Given the description of an element on the screen output the (x, y) to click on. 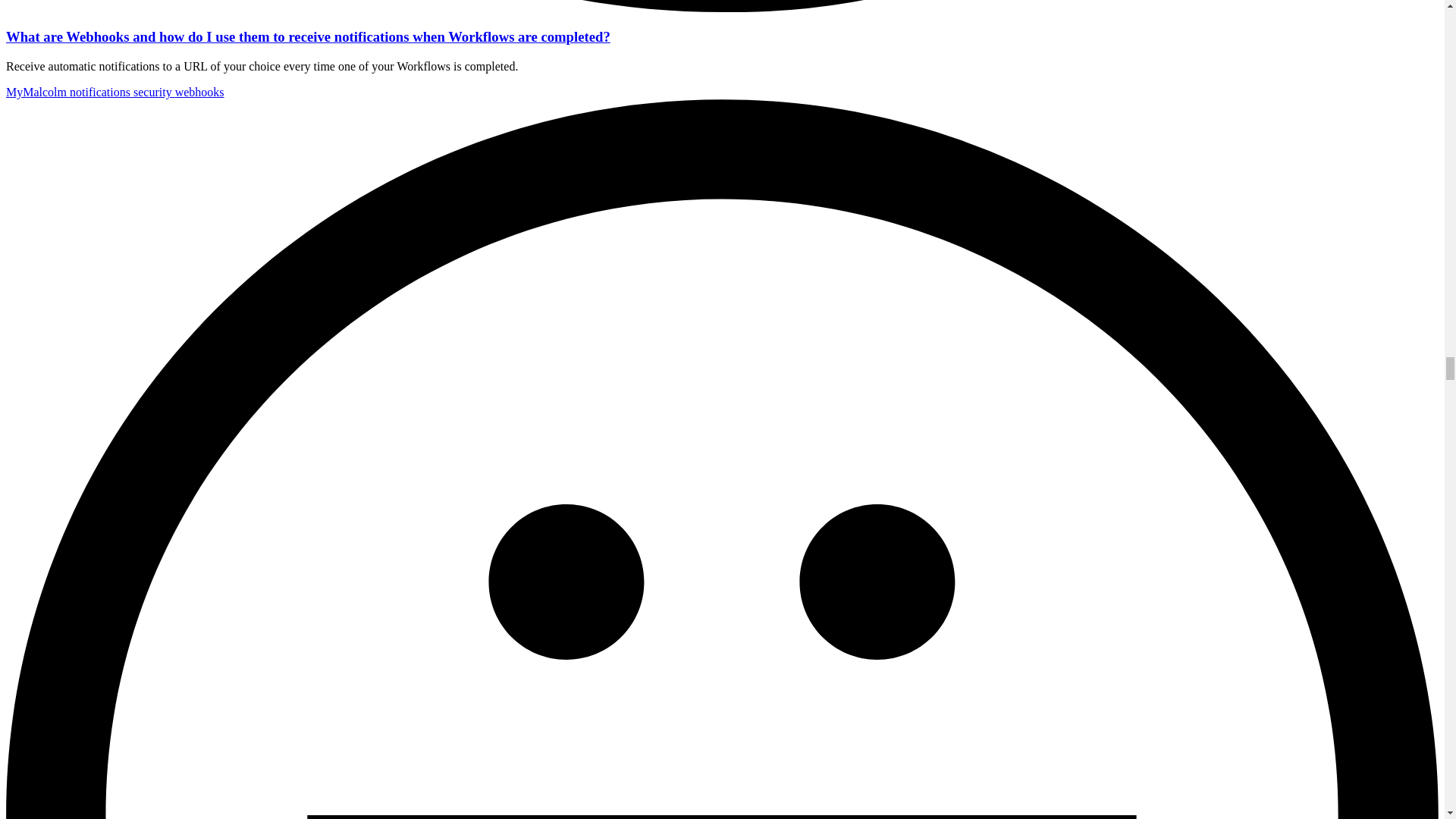
notifications (101, 91)
MyMalcolm (37, 91)
